Given the description of an element on the screen output the (x, y) to click on. 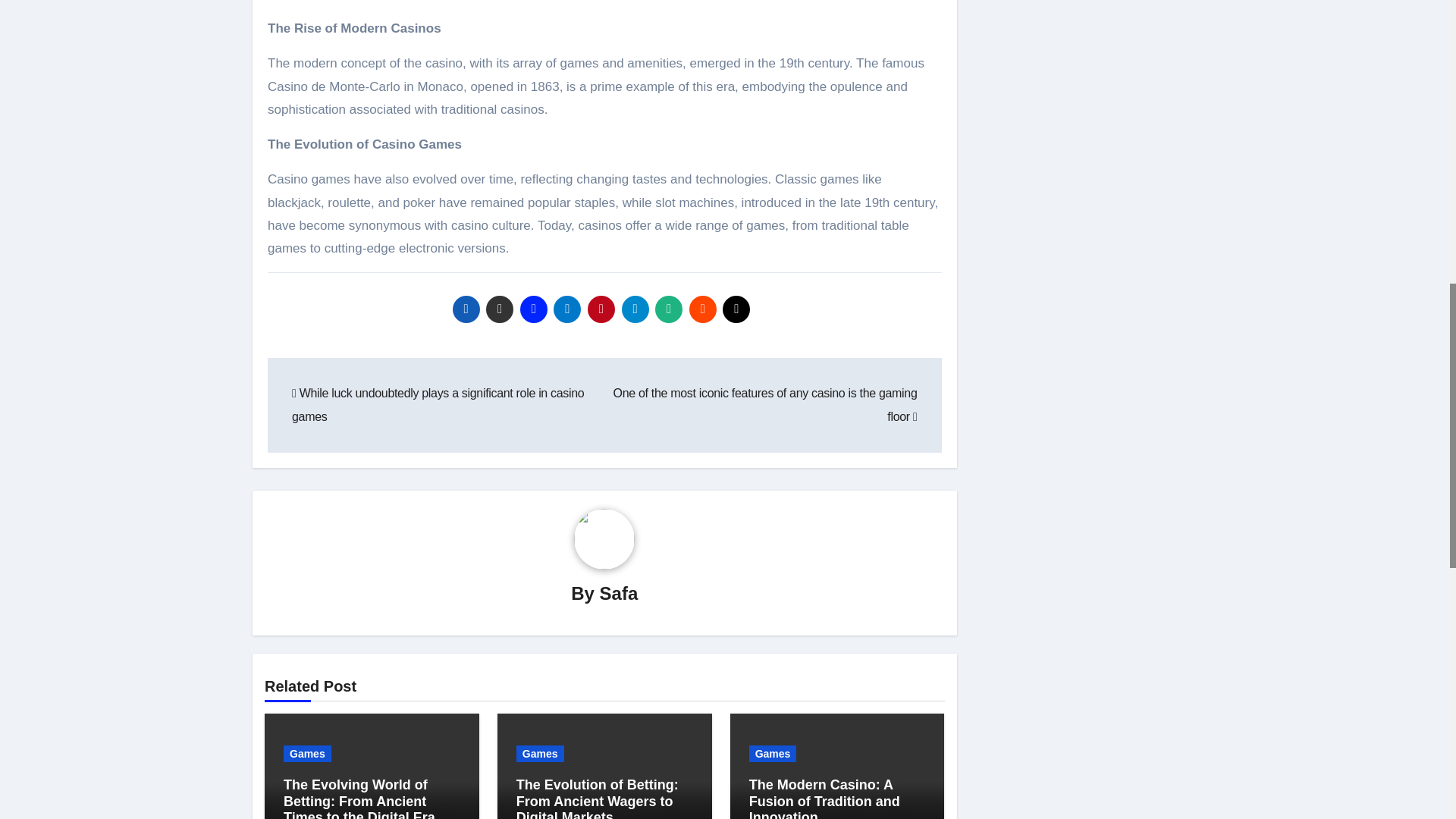
Games (307, 753)
Safa (619, 593)
